Given the description of an element on the screen output the (x, y) to click on. 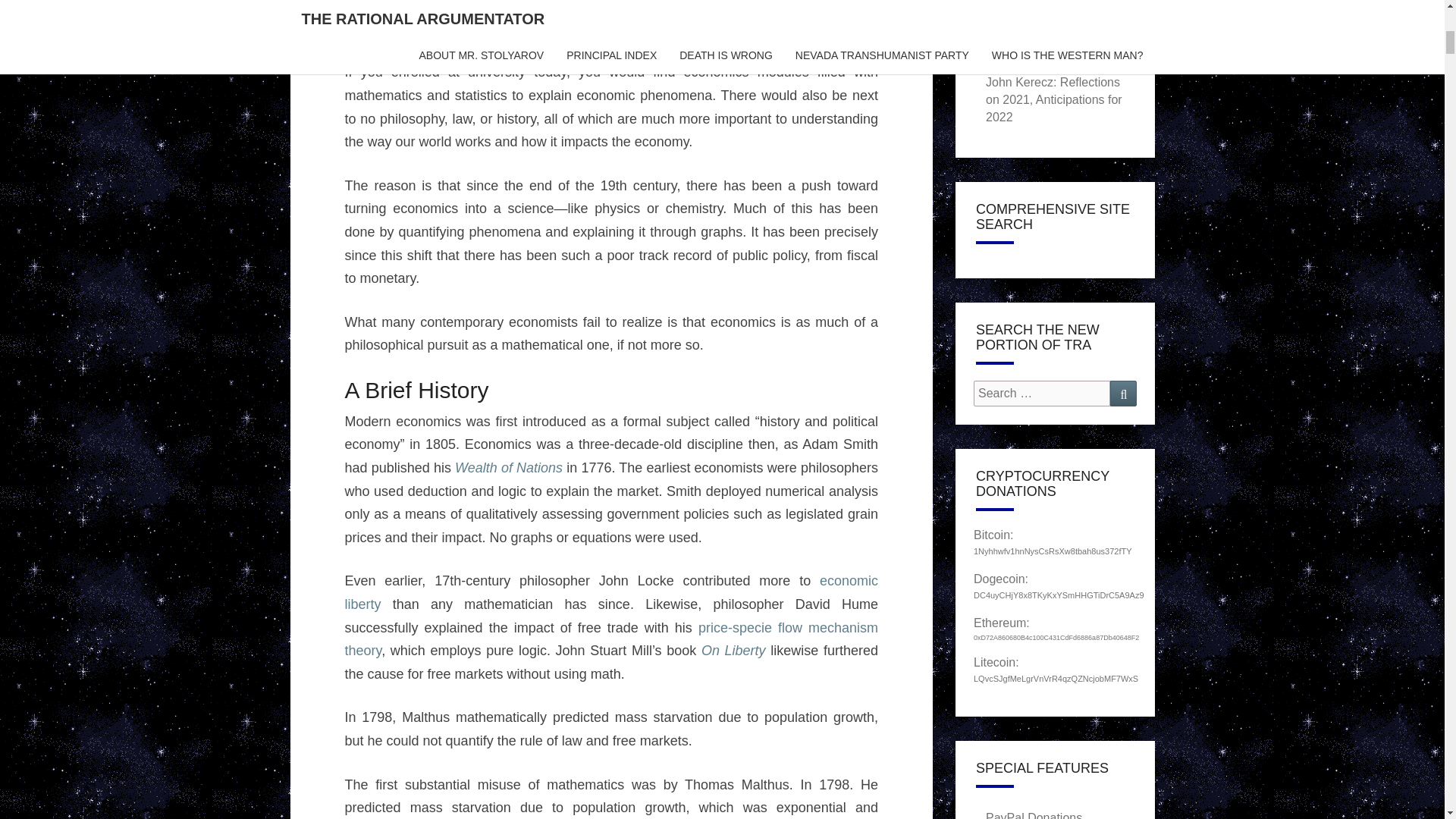
price-specie flow mechanism theory (610, 639)
economic liberty (610, 592)
Wealth of Nations (508, 467)
On Liberty (733, 650)
